Given the description of an element on the screen output the (x, y) to click on. 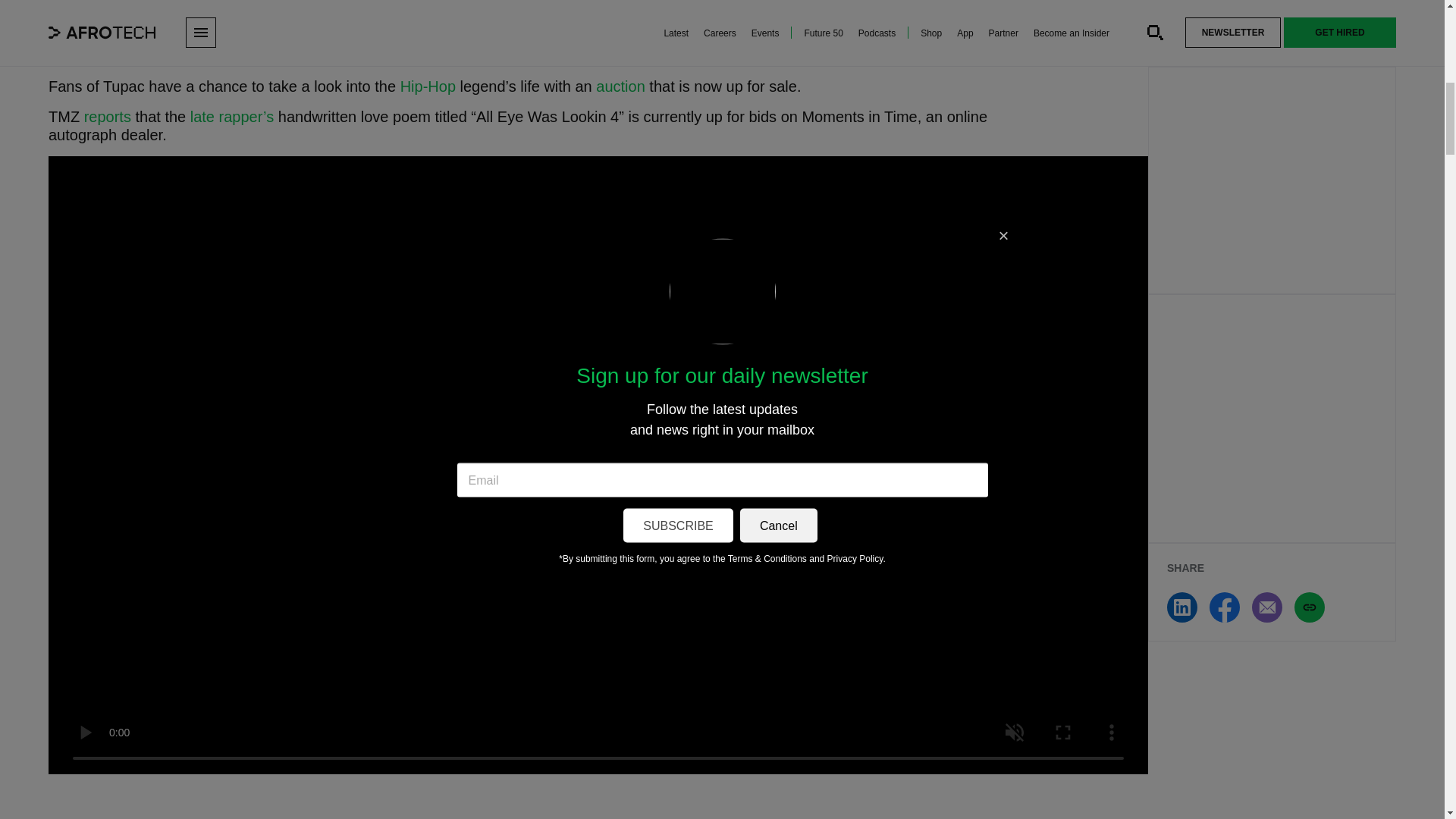
Hip-Hop (427, 86)
auction (620, 86)
reports (107, 116)
